Given the description of an element on the screen output the (x, y) to click on. 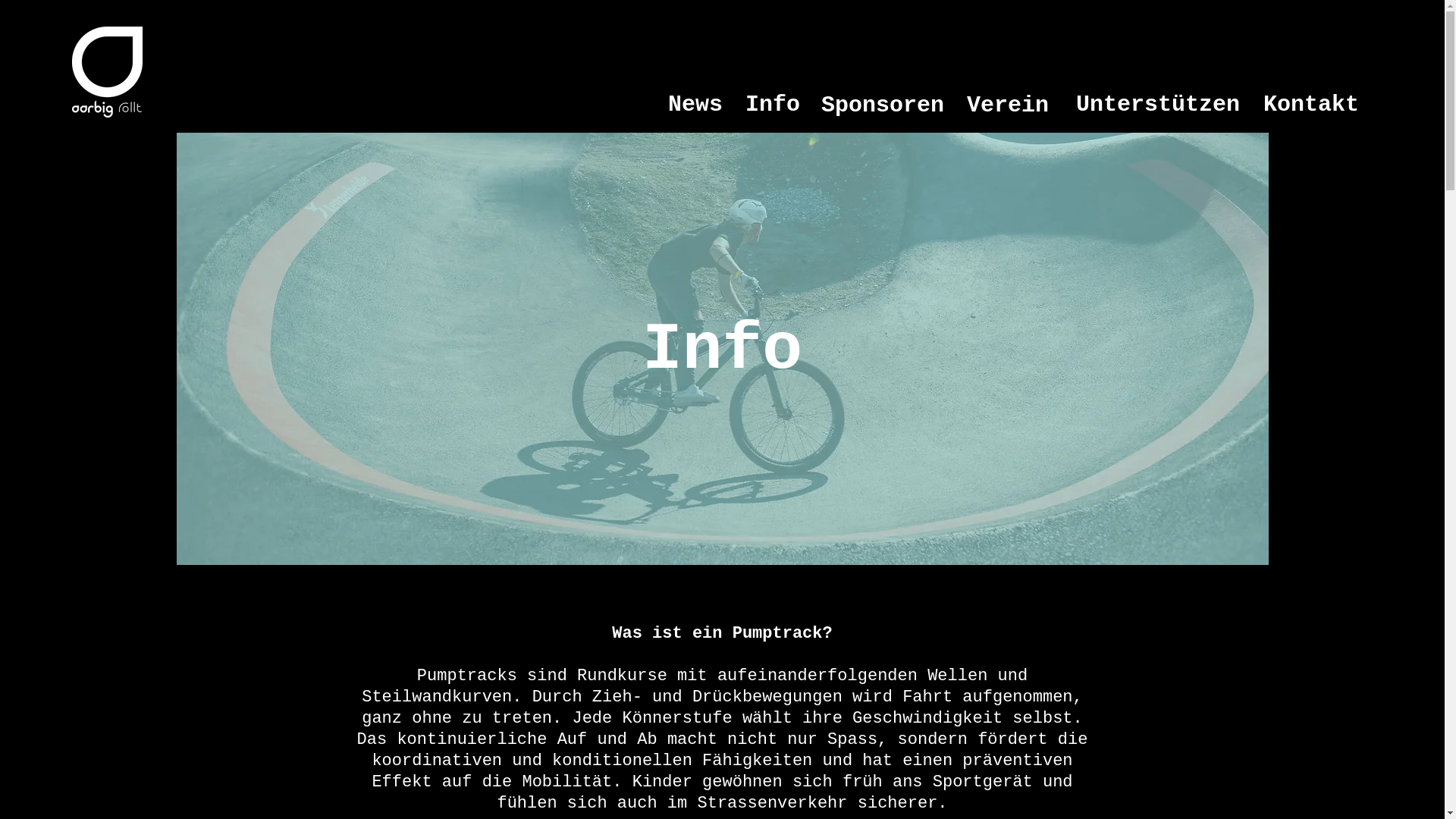
Verein Element type: text (1007, 103)
Sponsoren Element type: text (882, 103)
News Element type: text (695, 102)
Kontakt Element type: text (1310, 102)
Info Element type: text (772, 102)
